Given the description of an element on the screen output the (x, y) to click on. 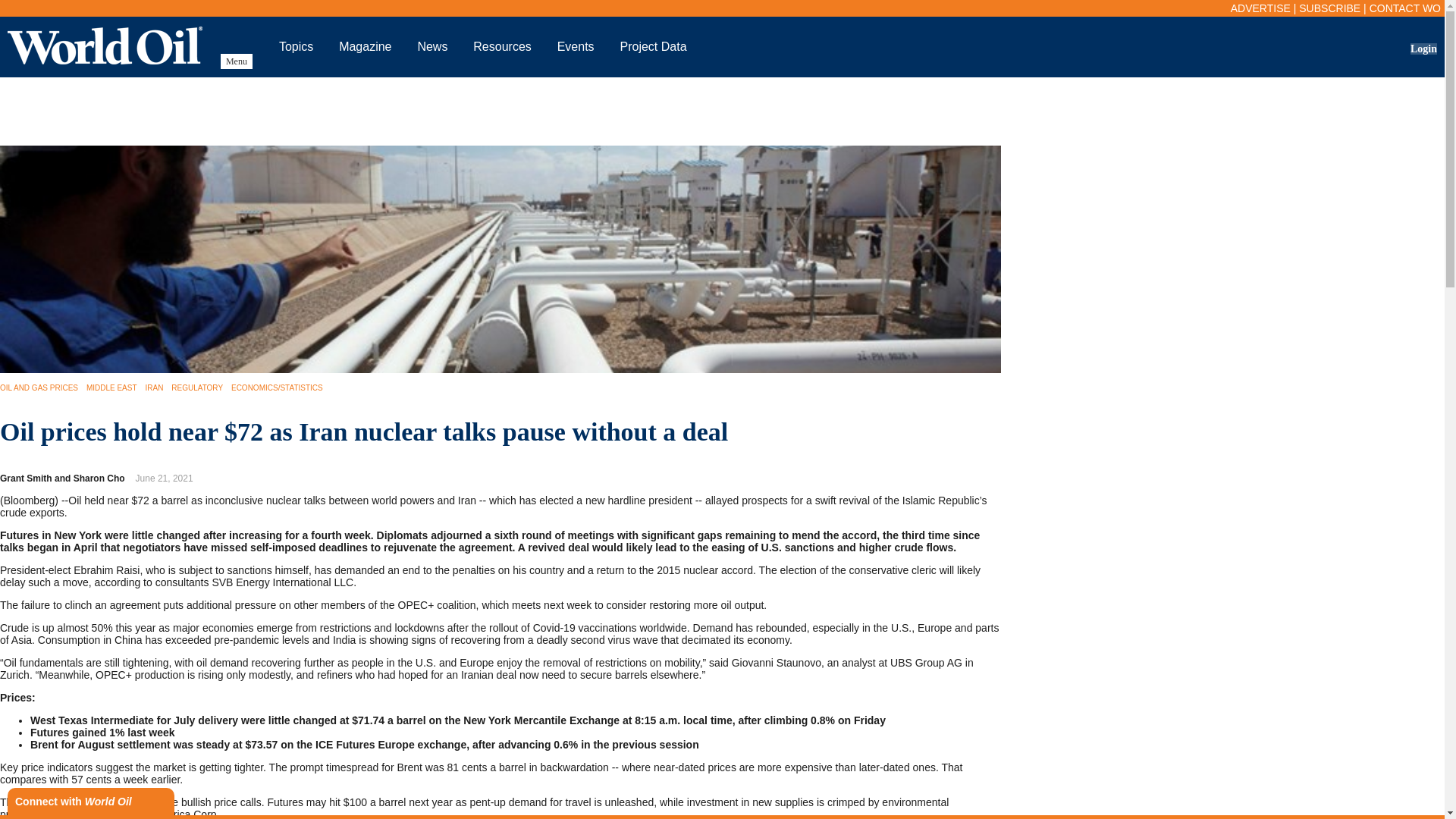
Topics (296, 46)
CONTACT WO (1405, 8)
ADVERTISE (1260, 8)
Menu (236, 61)
SUBSCRIBE (1328, 8)
3rd party ad content (721, 110)
